Given the description of an element on the screen output the (x, y) to click on. 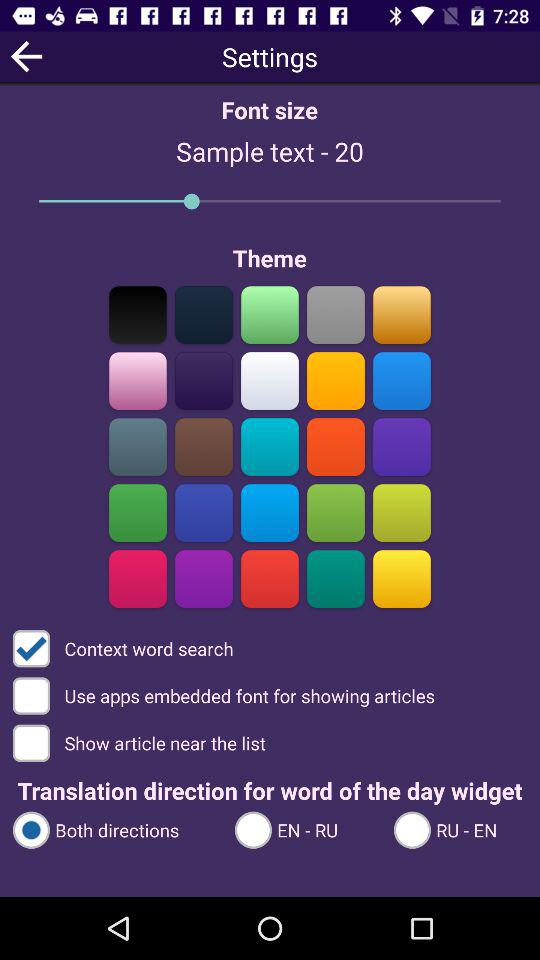
select one theme (137, 380)
